Given the description of an element on the screen output the (x, y) to click on. 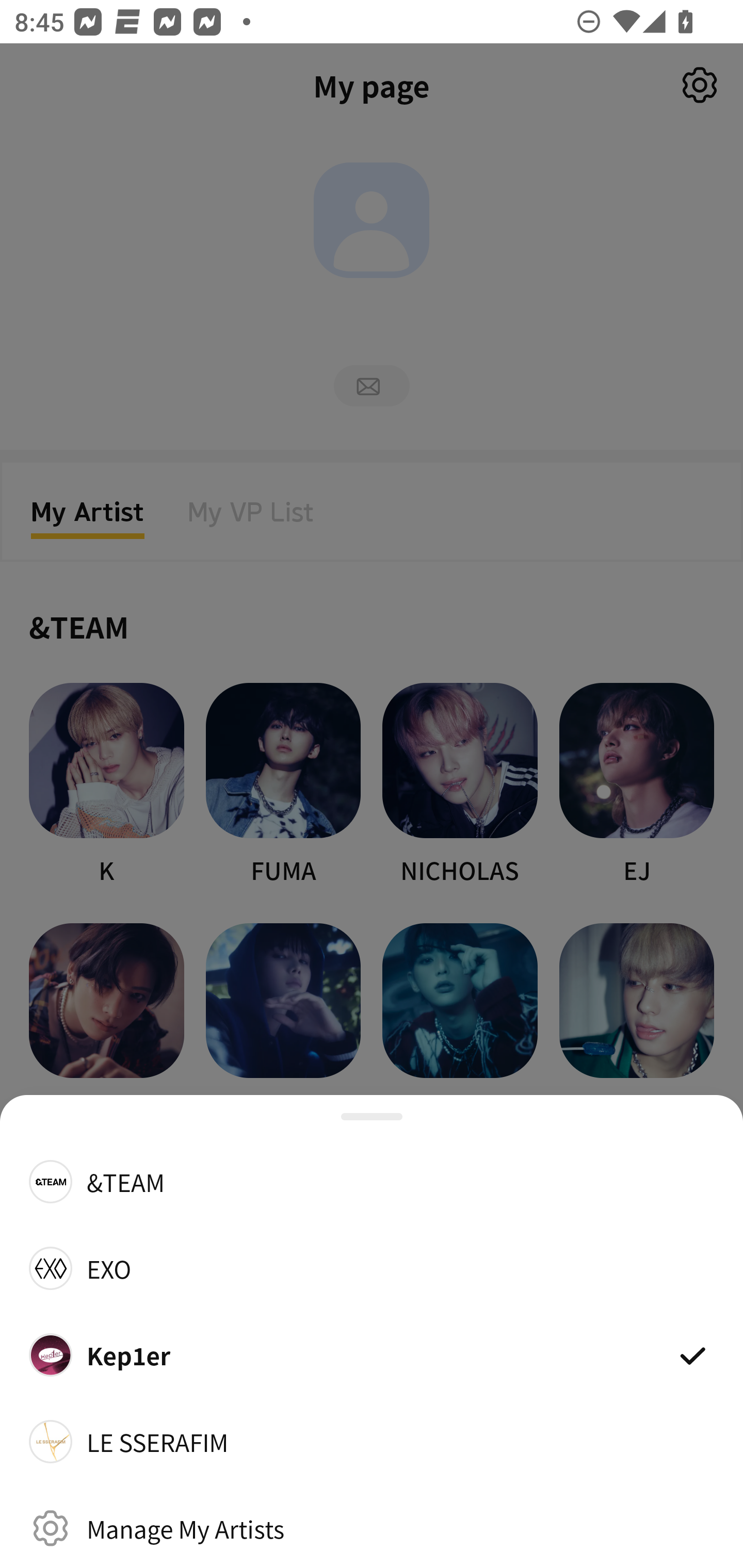
&TEAM (371, 1181)
EXO (371, 1268)
Kep1er (371, 1354)
LE SSERAFIM (371, 1441)
Manage My Artists (371, 1527)
